Given the description of an element on the screen output the (x, y) to click on. 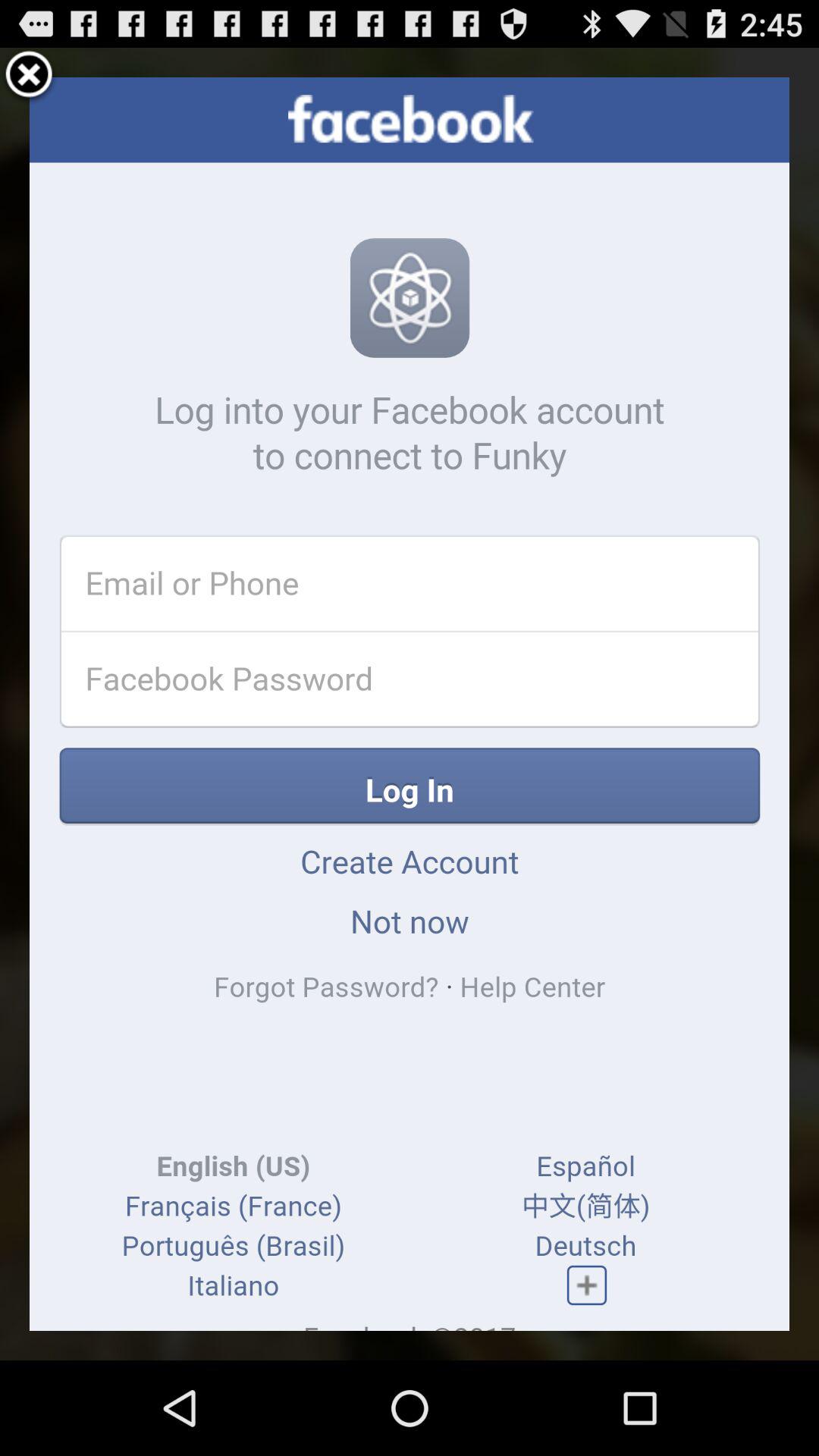
close window (29, 76)
